Given the description of an element on the screen output the (x, y) to click on. 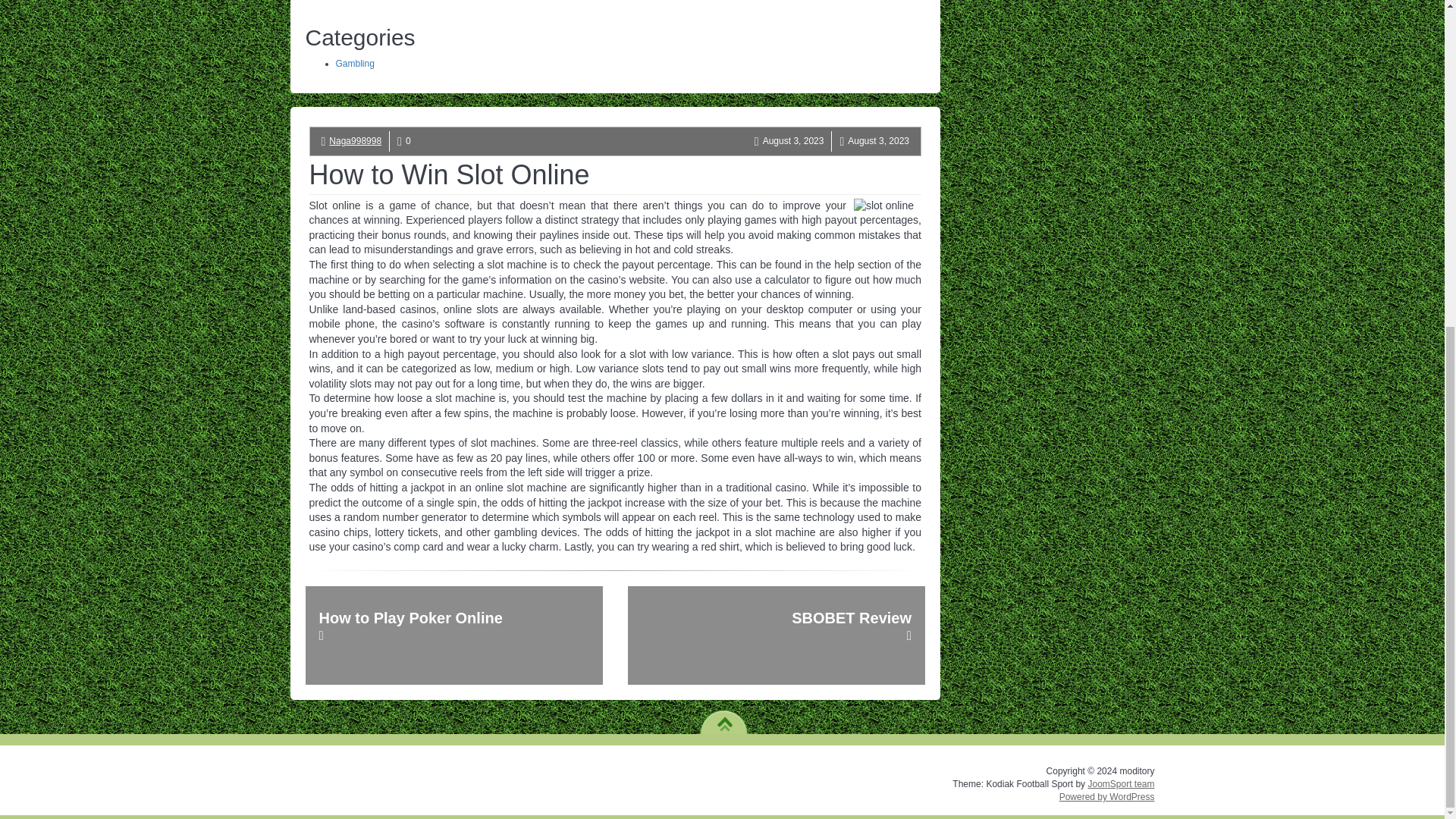
Naga998998 (355, 140)
Gambling (354, 63)
SBOBET Review (775, 635)
 The Best WordPress Sport Plugin for your league and club  (1120, 783)
How to Play Poker Online (453, 635)
JoomSport team (1120, 783)
